Given the description of an element on the screen output the (x, y) to click on. 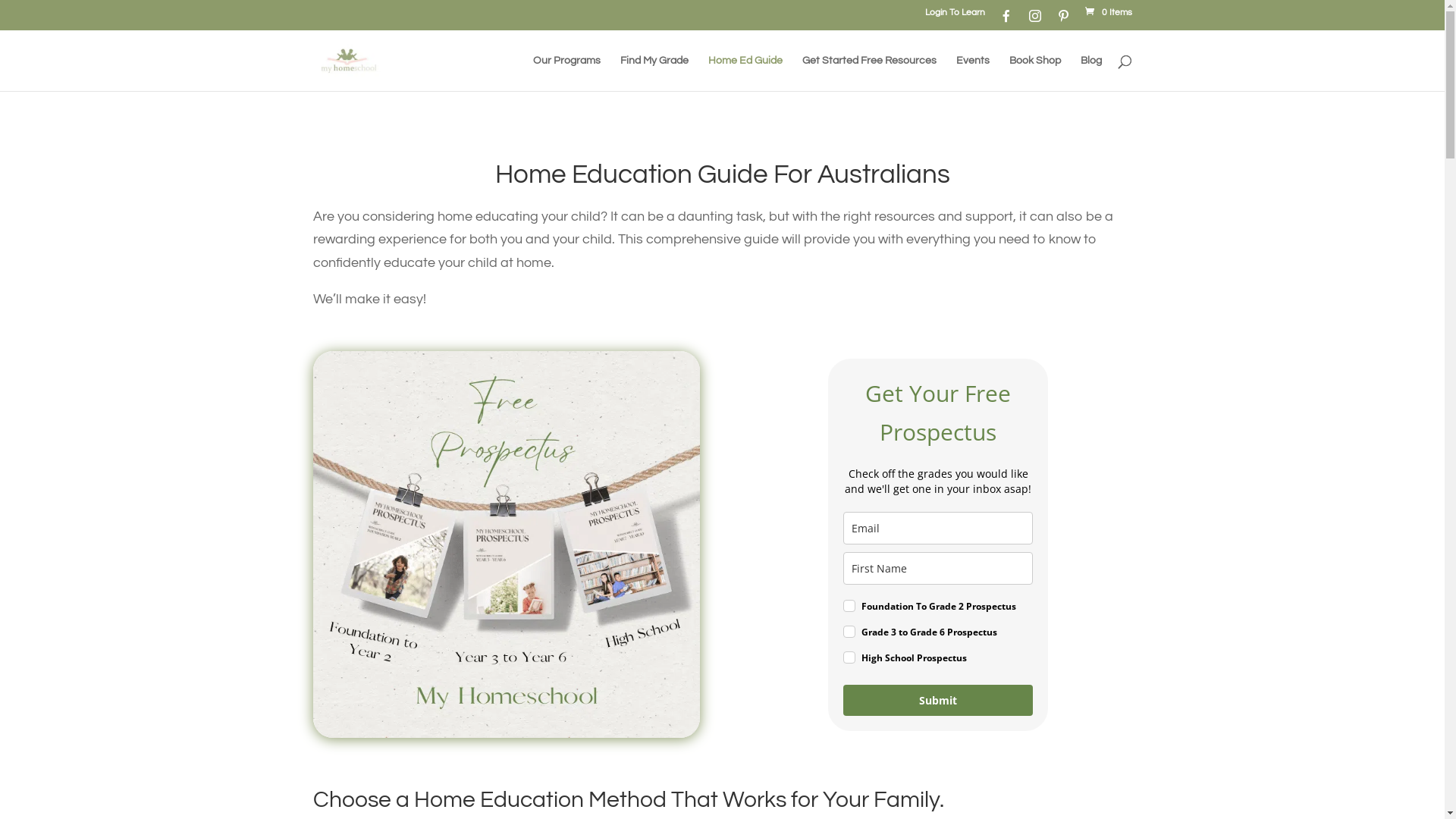
Login To Learn Element type: text (943, 19)
Find My Grade Element type: text (654, 73)
Home Ed Guide Element type: text (745, 73)
Book Shop Element type: text (1034, 73)
Blog Element type: text (1090, 73)
Get Started Free Resources Element type: text (869, 73)
MYHS-Free-Prospectus-675px Element type: hover (505, 544)
Our Programs Element type: text (565, 73)
Events Element type: text (971, 73)
0 Items Element type: text (1107, 12)
Submit Element type: text (937, 699)
